Given the description of an element on the screen output the (x, y) to click on. 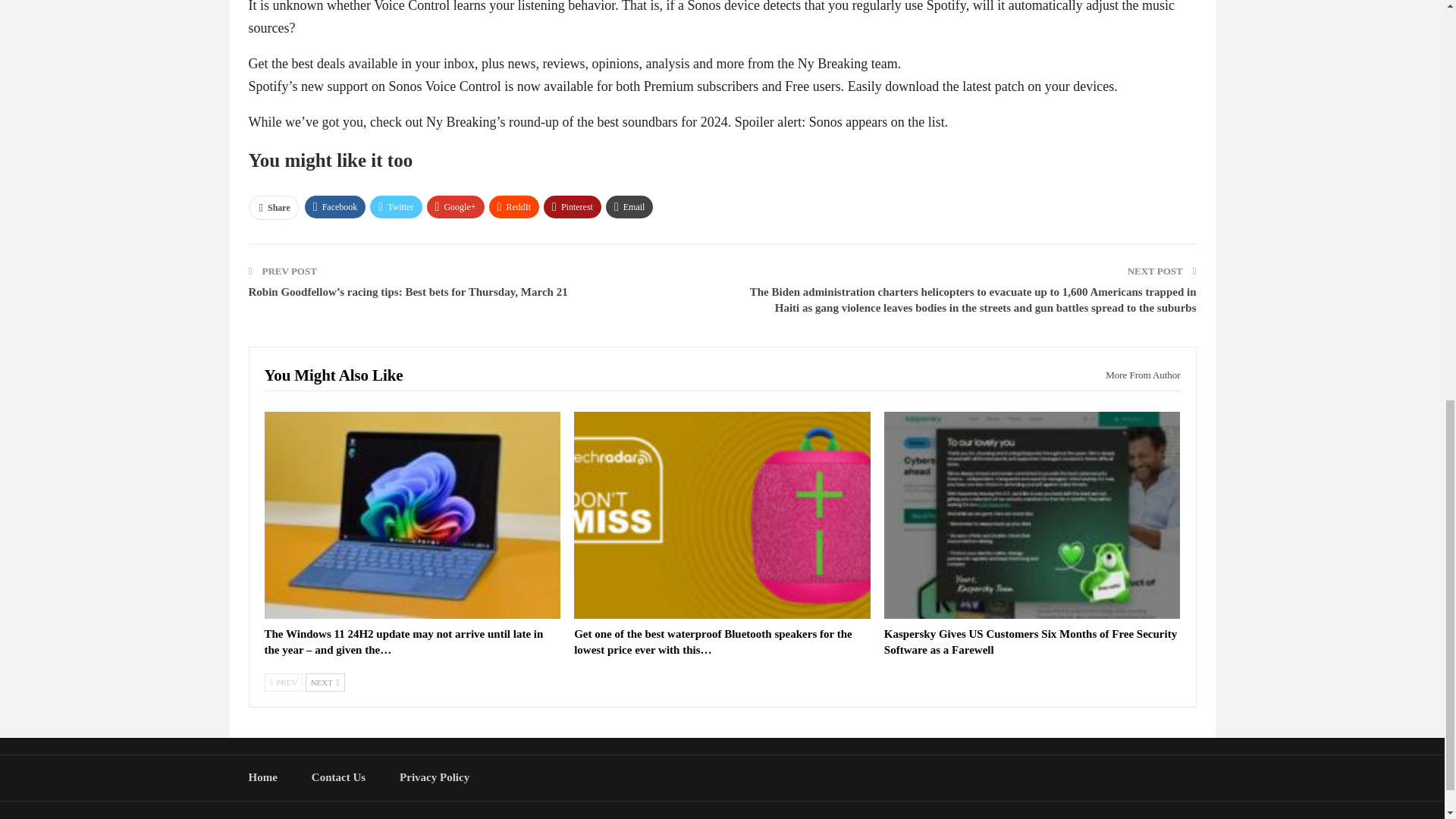
Pinterest (572, 206)
Facebook (335, 206)
Next (325, 682)
ReddIt (514, 206)
Twitter (395, 206)
Email (629, 206)
Previous (282, 682)
